Given the description of an element on the screen output the (x, y) to click on. 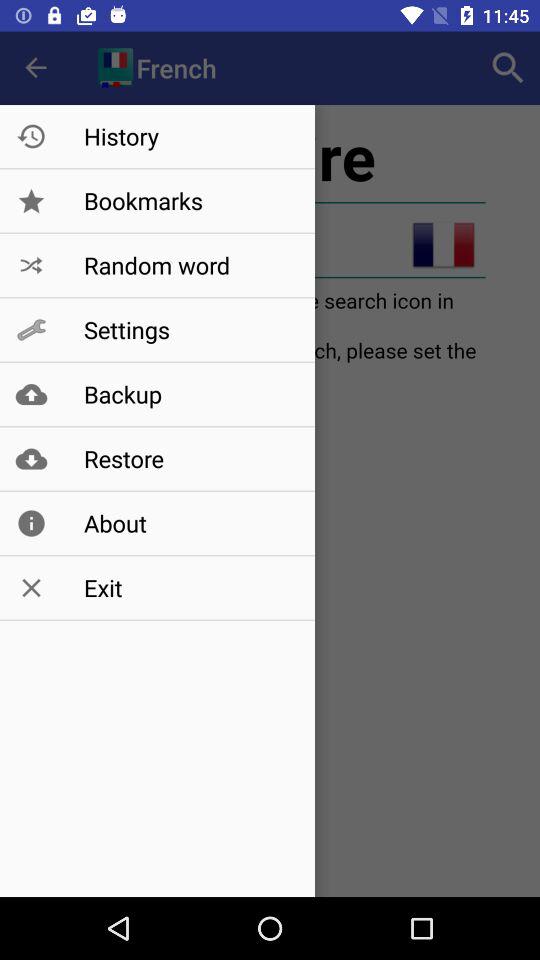
swipe to the history (188, 136)
